Given the description of an element on the screen output the (x, y) to click on. 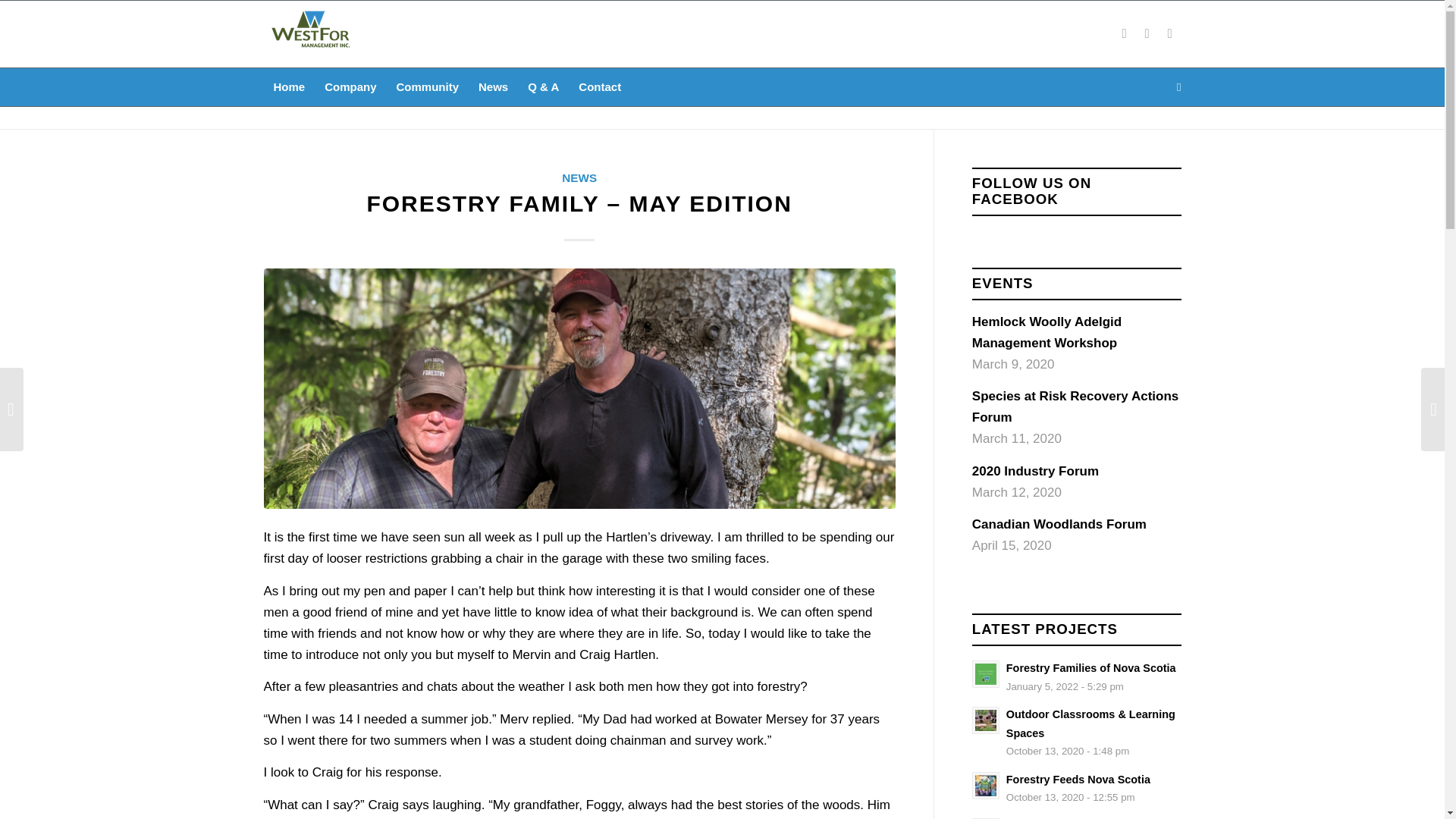
Company (349, 86)
Facebook (1124, 33)
Home (289, 86)
Instagram (1076, 788)
Contact (1146, 33)
NEWS (599, 86)
Youtube (1076, 676)
